Given the description of an element on the screen output the (x, y) to click on. 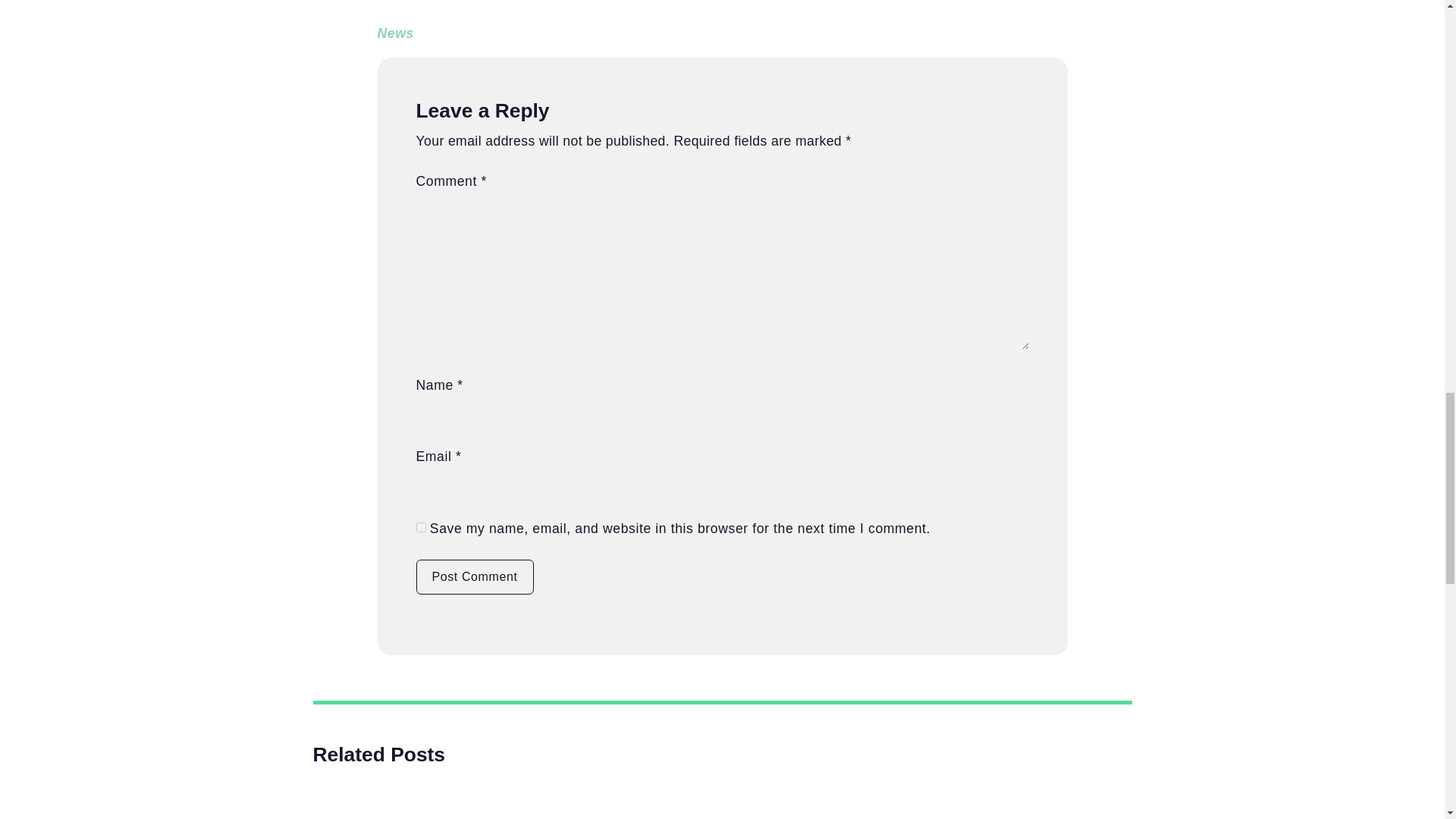
Post Comment (473, 576)
Post Comment (473, 576)
yes (419, 527)
News (395, 32)
